Given the description of an element on the screen output the (x, y) to click on. 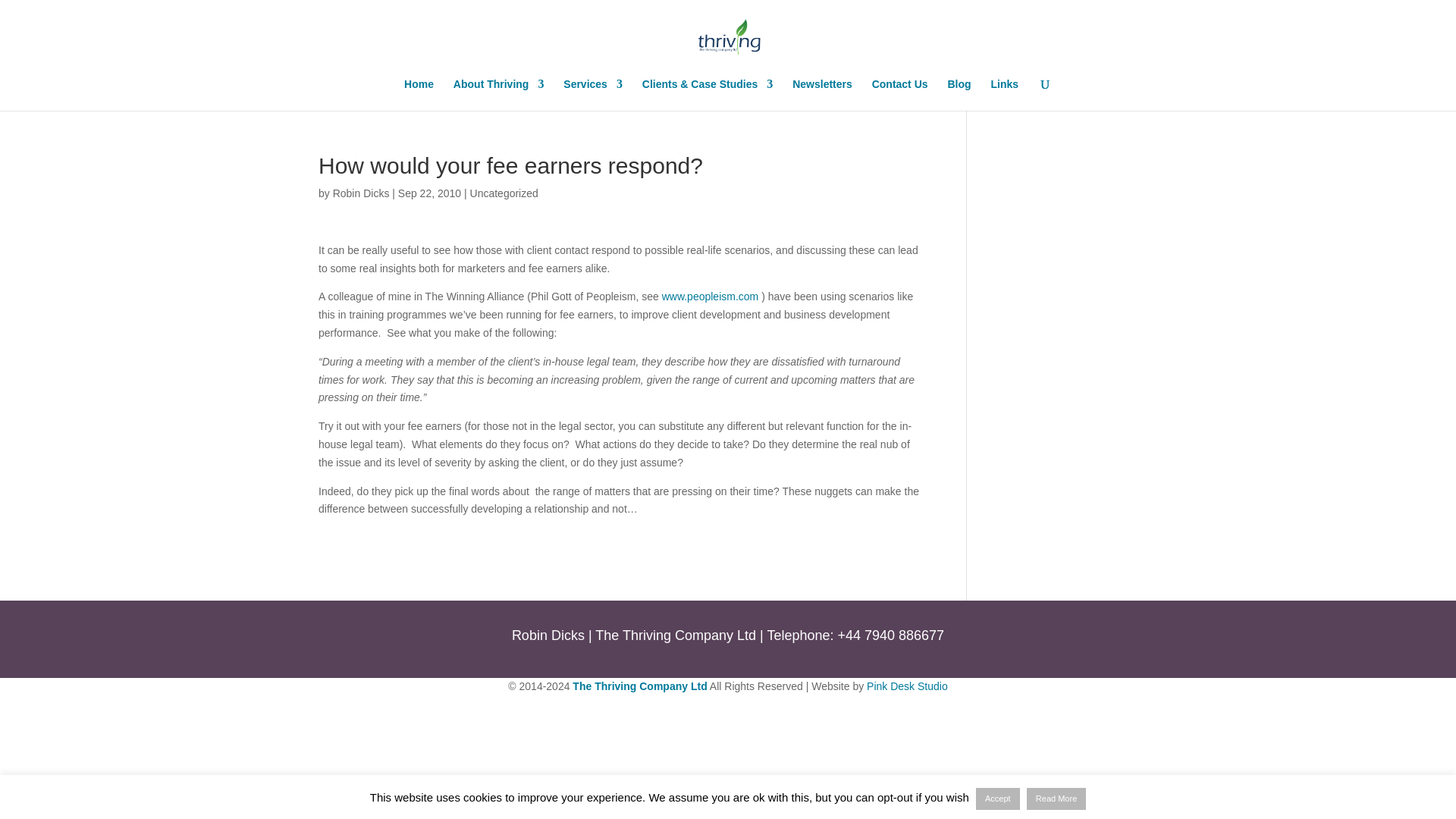
Robin Dicks (361, 193)
www.peopleism.com (710, 296)
Services (593, 94)
About Thriving (498, 94)
Contact Us (900, 94)
Posts by Robin Dicks (361, 193)
Home (418, 94)
Uncategorized (504, 193)
Newsletters (821, 94)
